Given the description of an element on the screen output the (x, y) to click on. 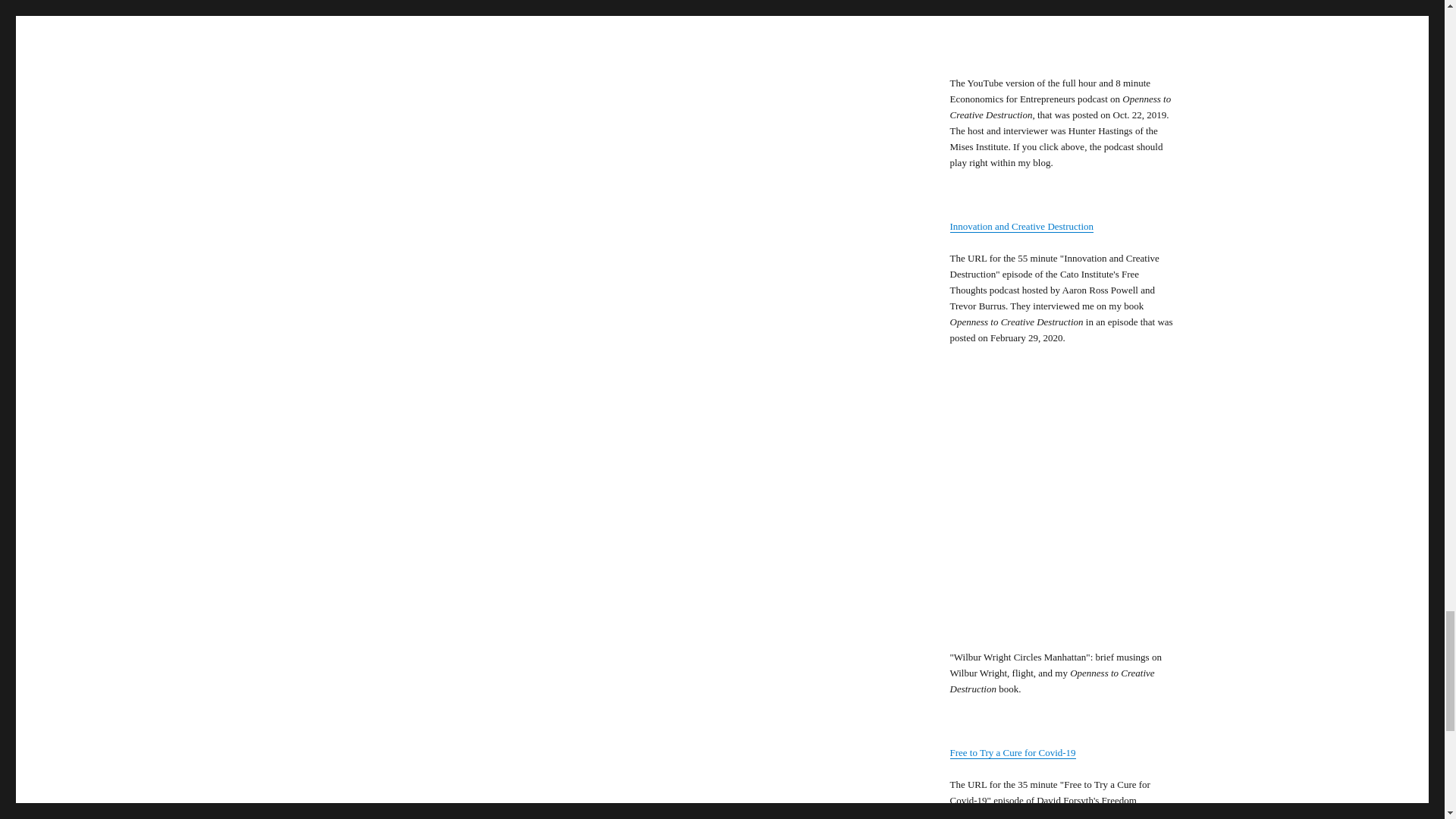
Free to Try a Cure for Covid-19 (1012, 752)
Innovation and Creative Destruction (1021, 225)
